Given the description of an element on the screen output the (x, y) to click on. 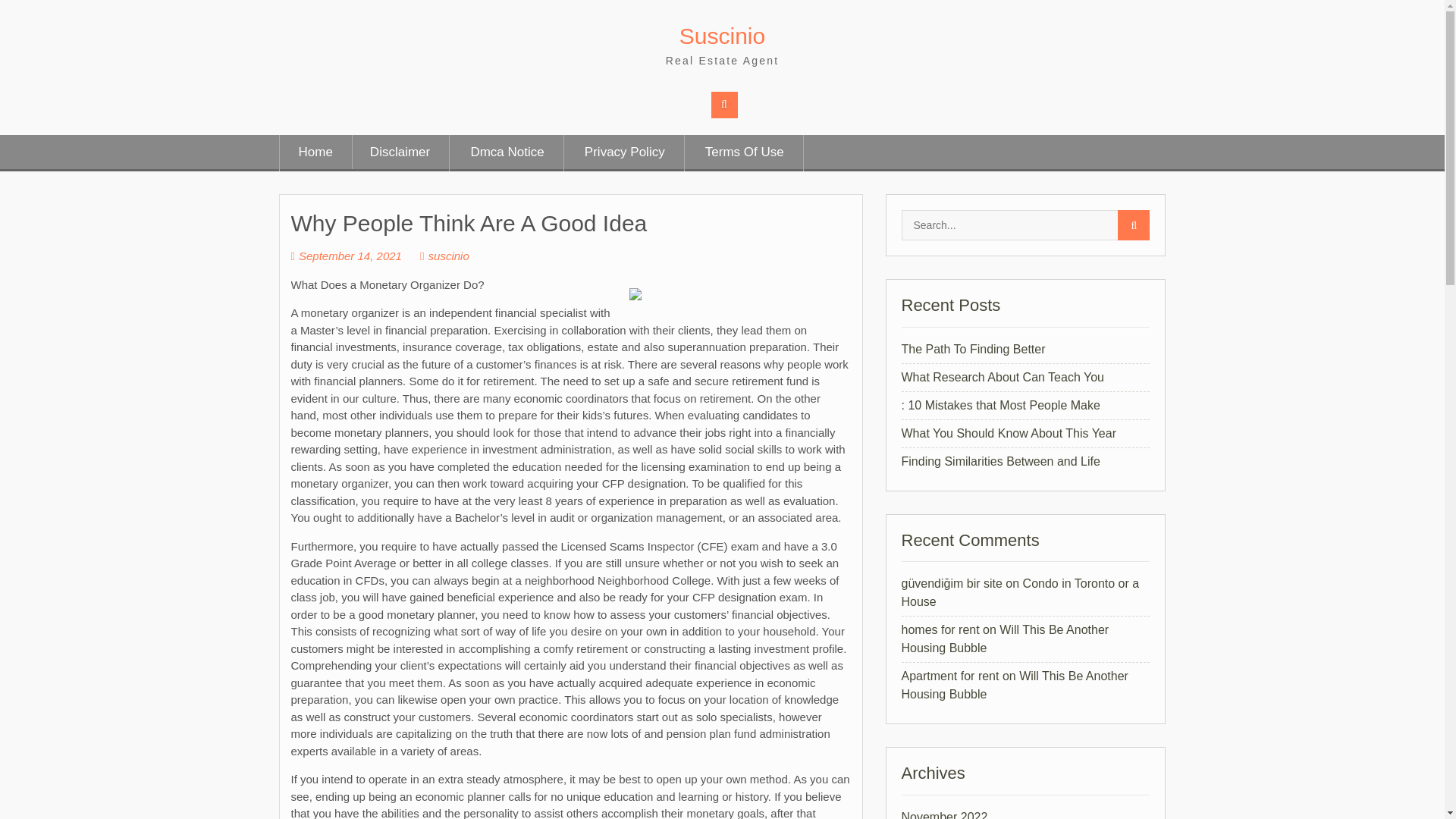
: 10 Mistakes that Most People Make (1000, 404)
Home (314, 153)
Condo in Toronto or a House (1019, 592)
suscinio (444, 255)
Disclaimer (399, 153)
September 14, 2021 (346, 255)
Suscinio (722, 35)
homes for rent (939, 629)
What Research About Can Teach You (1002, 377)
The Path To Finding Better (973, 349)
What You Should Know About This Year (1008, 432)
Dmca Notice (506, 153)
Will This Be Another Housing Bubble (1004, 638)
Terms Of Use (744, 153)
